Given the description of an element on the screen output the (x, y) to click on. 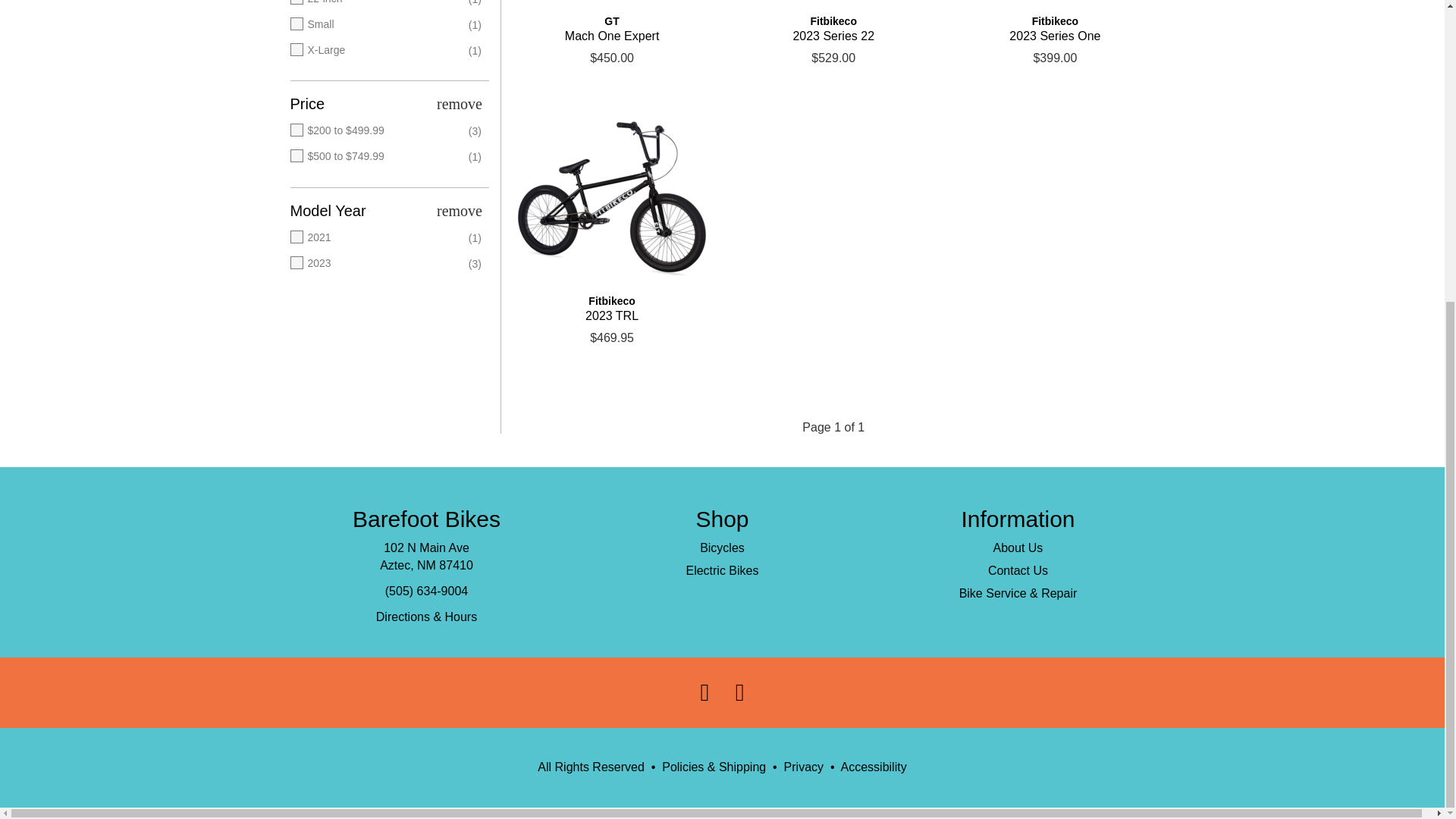
Model Year (386, 210)
Fitbikeco 2023 Series 22 (833, 28)
Fitbikeco 2023 TRL (611, 308)
Fitbikeco 2023 TRL (611, 198)
Fitbikeco 2023 Series One (1054, 28)
Fitbikeco 2023 Series 22 (833, 6)
Fitbikeco 2023 Series One (1054, 6)
GT Mach One Expert (611, 6)
Price (386, 103)
GT Mach One Expert (611, 28)
